Given the description of an element on the screen output the (x, y) to click on. 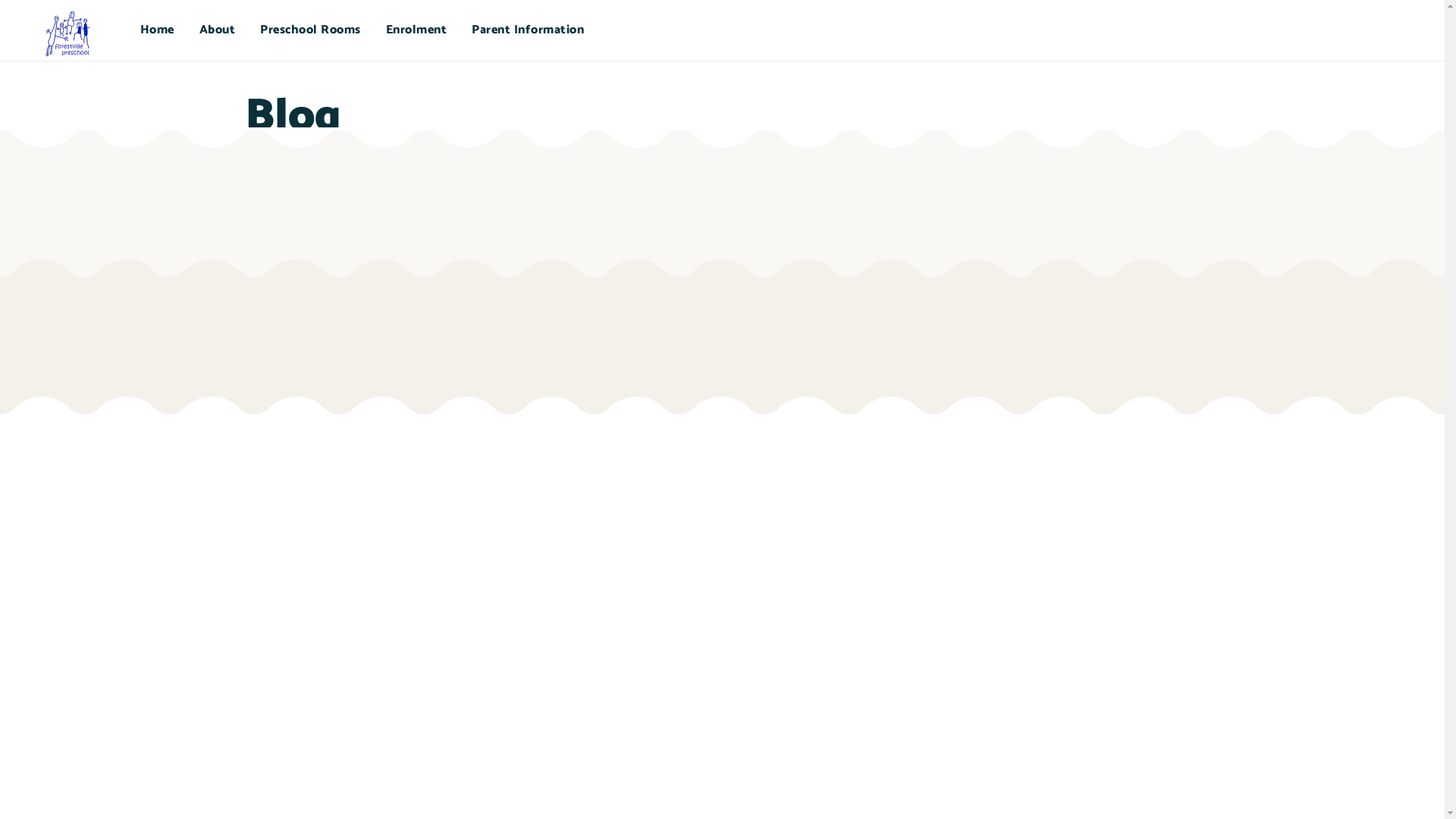
Uniting Forestville Preschool Element type: hover (71, 34)
Home Element type: text (156, 29)
Parent Information Element type: text (527, 29)
About Element type: text (217, 29)
Skip to content Element type: text (1405, 12)
Enrolment Element type: text (416, 29)
Preschool Rooms Element type: text (310, 29)
